Given the description of an element on the screen output the (x, y) to click on. 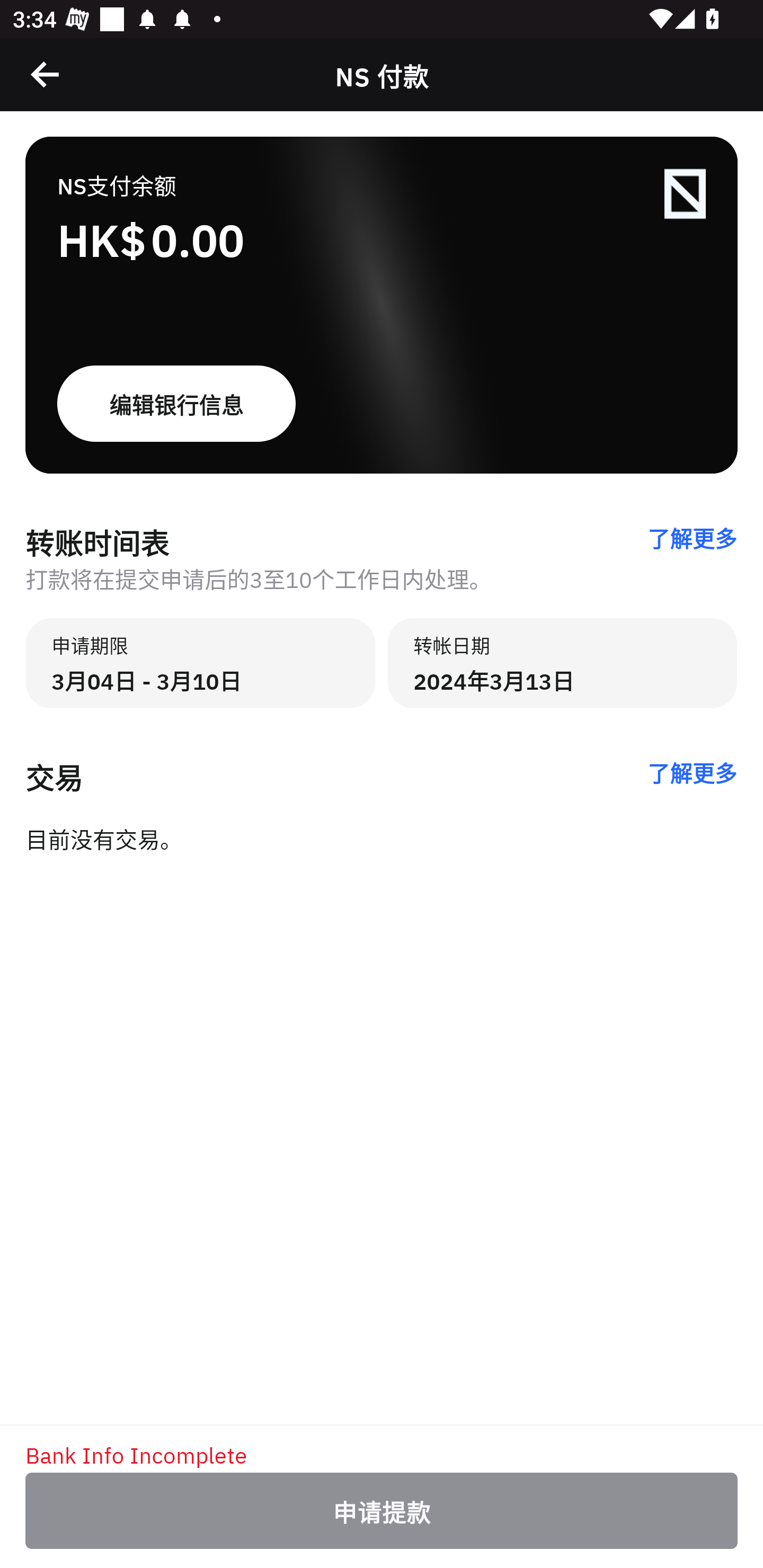
 (46, 74)
编辑银行信息 (381, 403)
申请提款 (381, 1510)
